Given the description of an element on the screen output the (x, y) to click on. 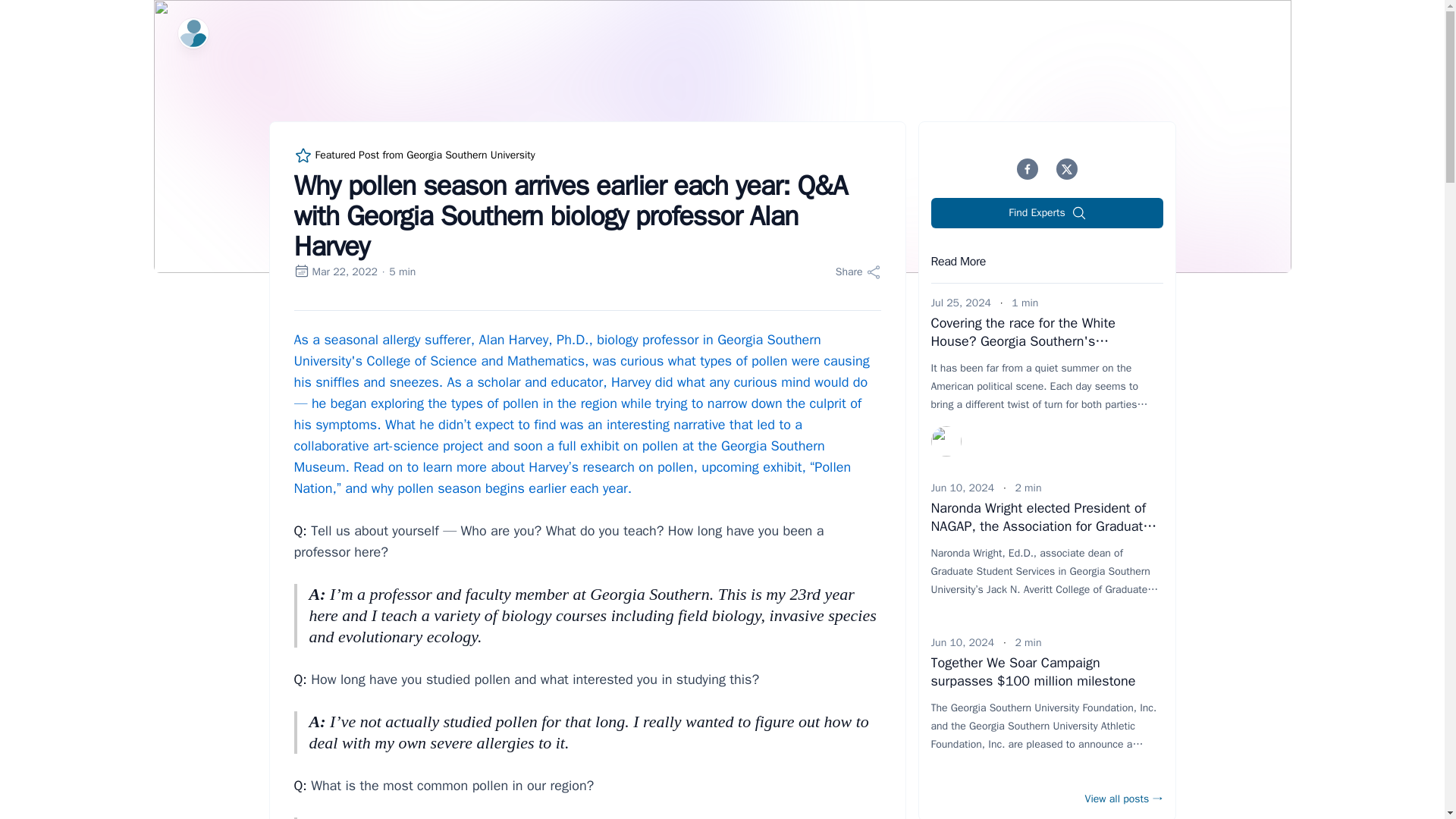
Share (857, 272)
ExpertFile Inc. (192, 33)
Find Experts (1047, 213)
